Given the description of an element on the screen output the (x, y) to click on. 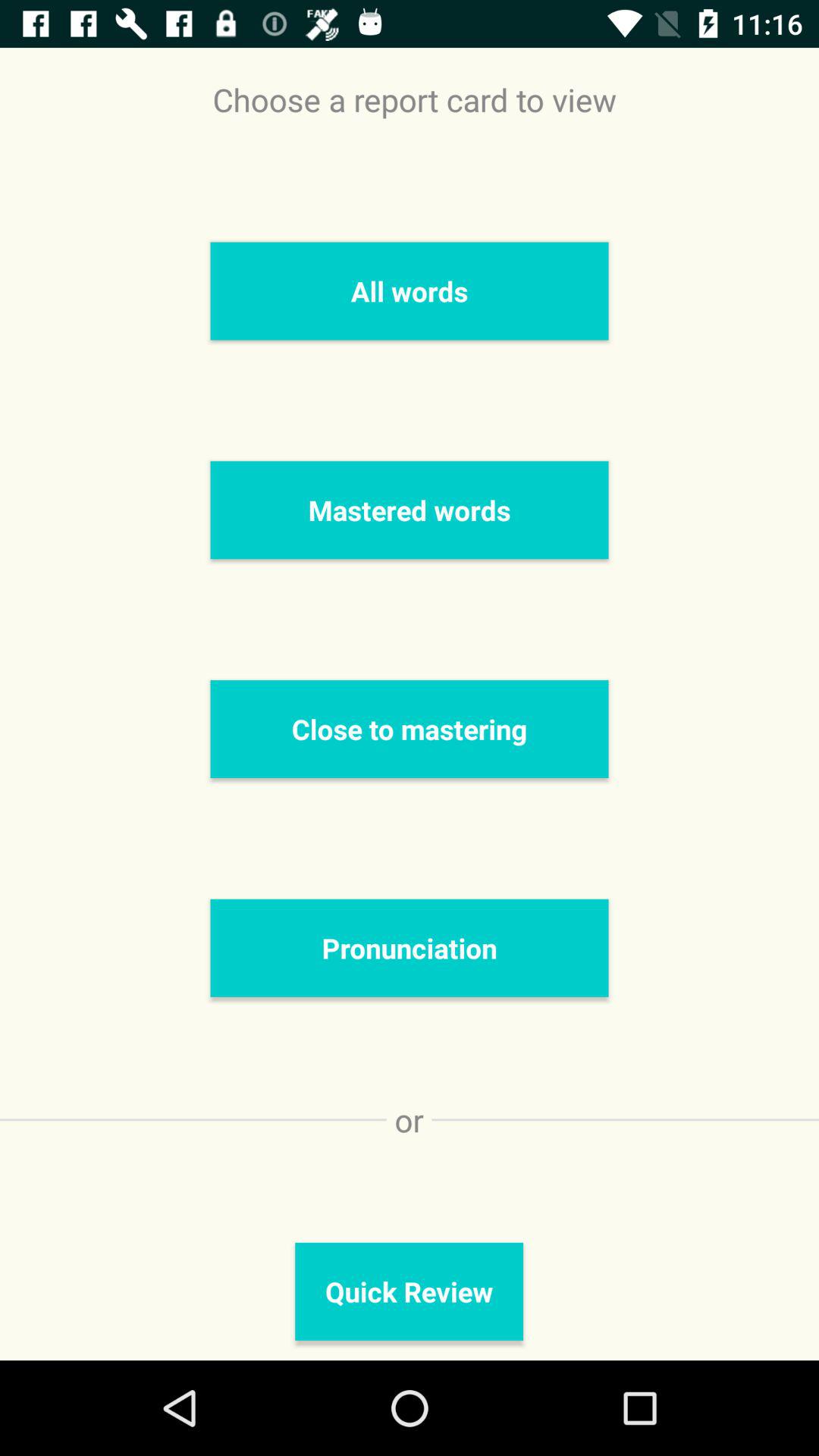
launch the pronunciation (409, 948)
